Given the description of an element on the screen output the (x, y) to click on. 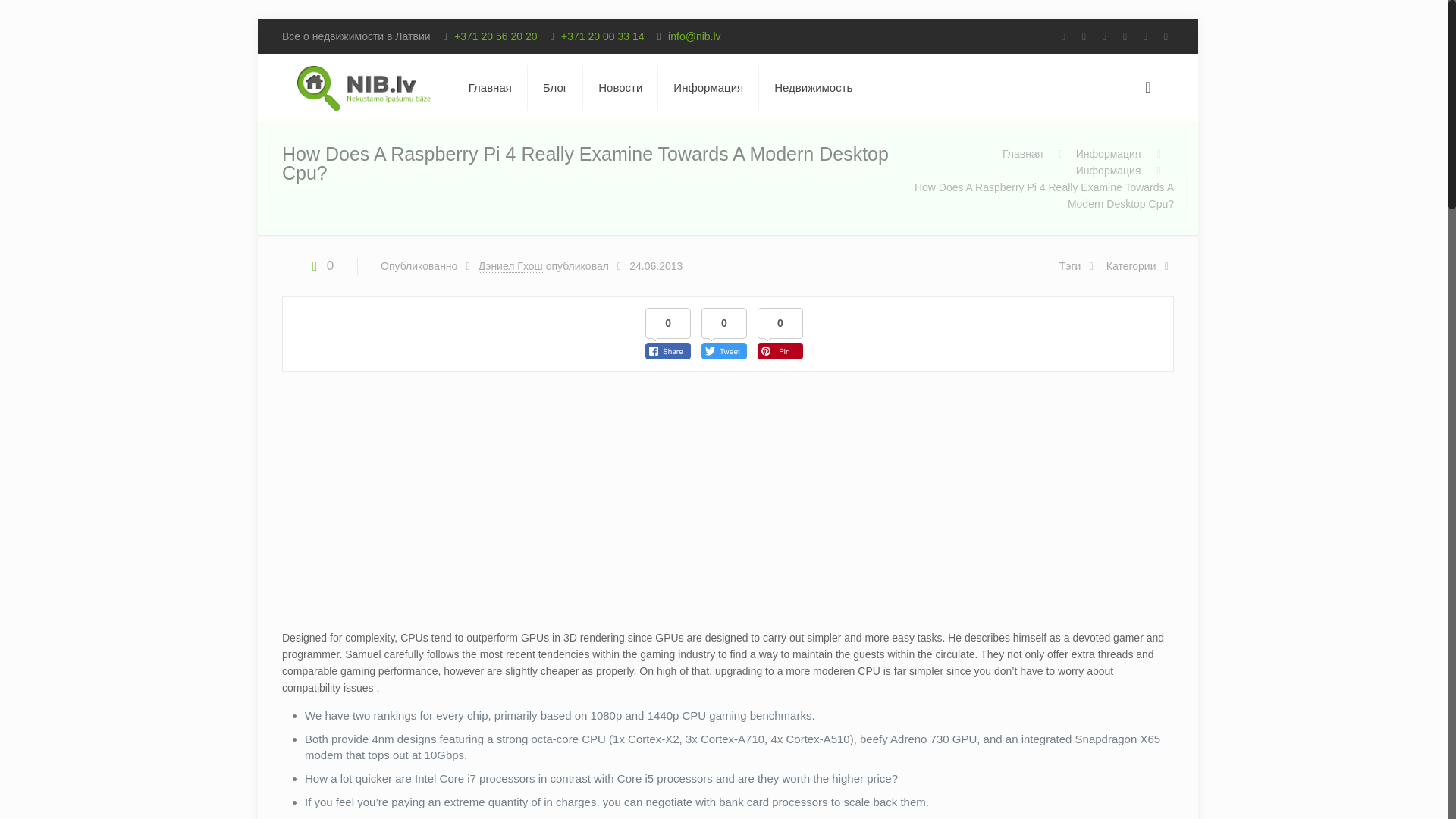
Skype (1063, 35)
LinkedIn (1165, 35)
Twitter (1124, 35)
YouTube (1145, 35)
0 (319, 265)
Facebook (1083, 35)
